Given the description of an element on the screen output the (x, y) to click on. 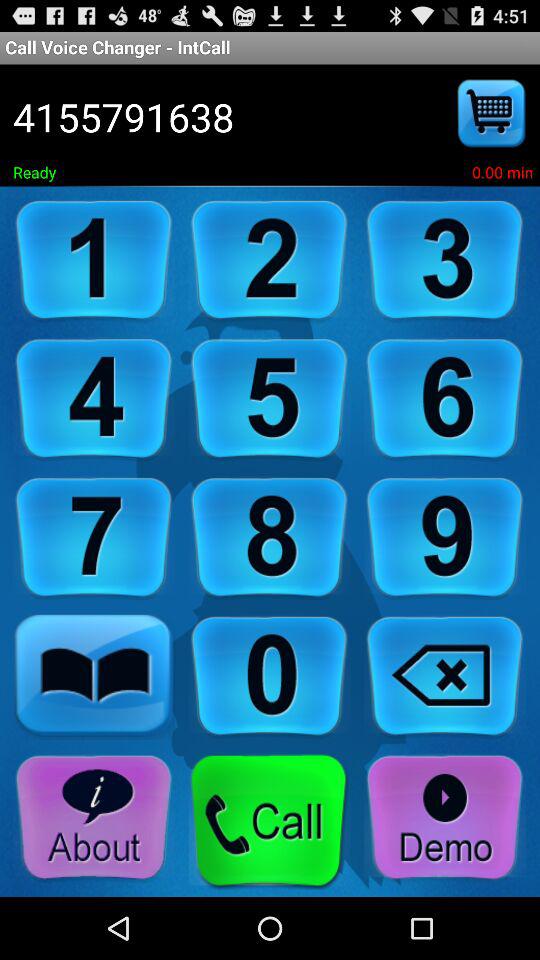
number 4 (94, 399)
